Given the description of an element on the screen output the (x, y) to click on. 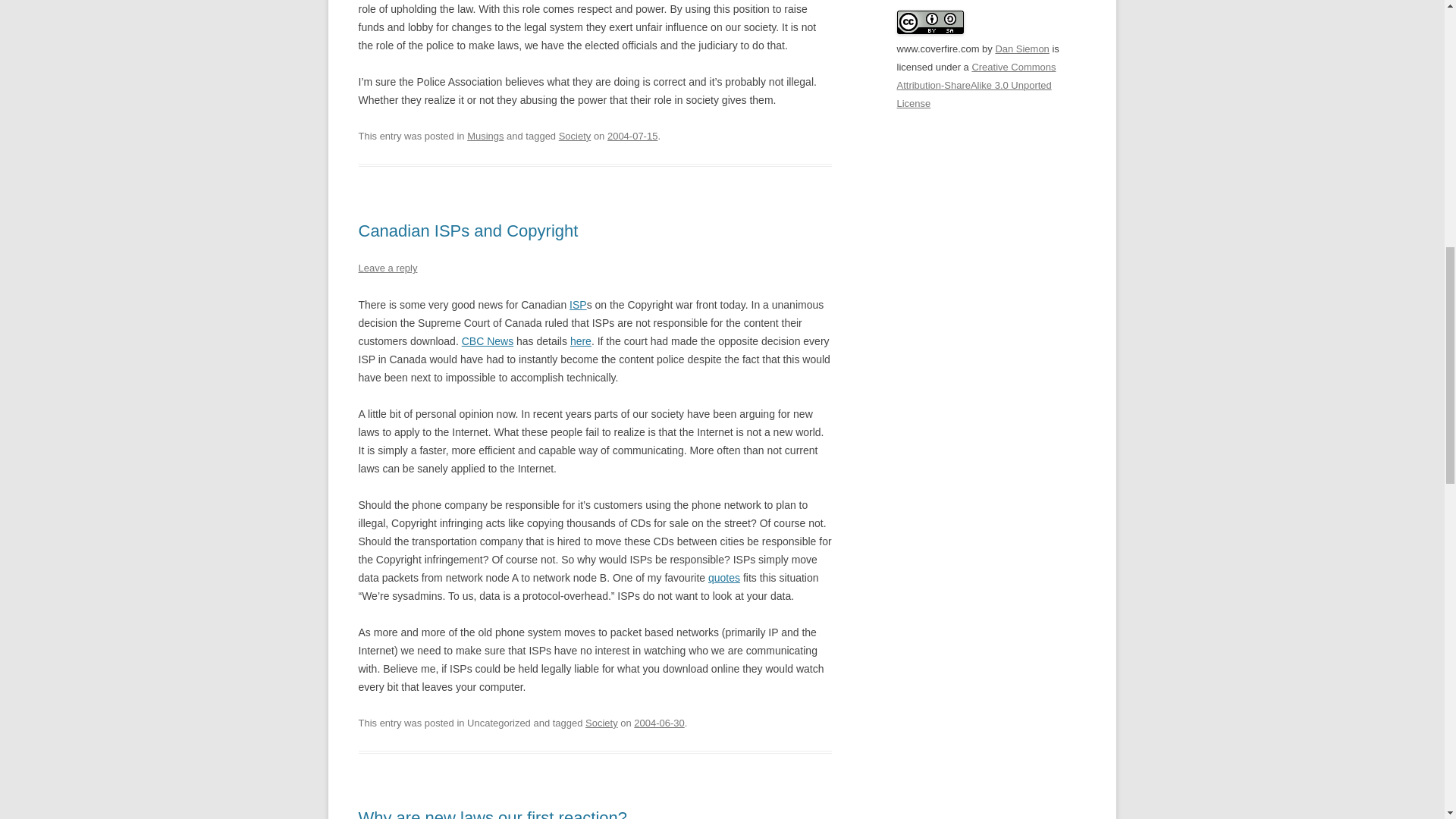
Musings (485, 135)
here (580, 340)
ISP (577, 304)
quotes (723, 577)
Why are new laws our first reaction? (492, 813)
1128 (658, 722)
2004-06-30 (658, 722)
Canadian ISPs and Copyright (468, 230)
2004-07-15 (632, 135)
Society (575, 135)
Leave a reply (387, 267)
1913 (632, 135)
CBC News (487, 340)
Society (601, 722)
